Given the description of an element on the screen output the (x, y) to click on. 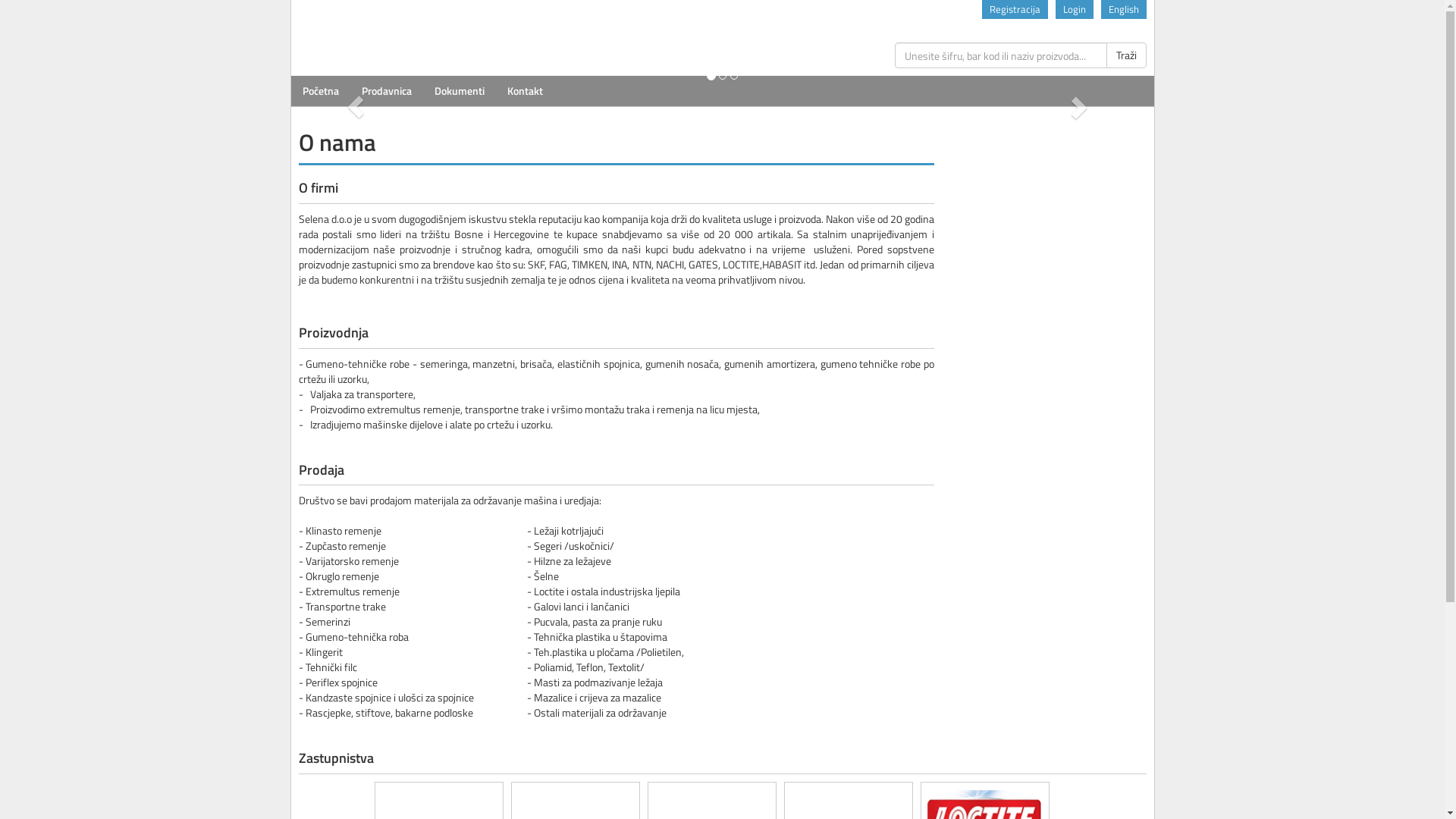
Login Element type: text (1074, 9)
Registracija Element type: text (1014, 9)
Prodavnica Element type: text (386, 90)
Kontakt Element type: text (524, 90)
Dokumenti Element type: text (459, 90)
English Element type: text (1123, 9)
